Given the description of an element on the screen output the (x, y) to click on. 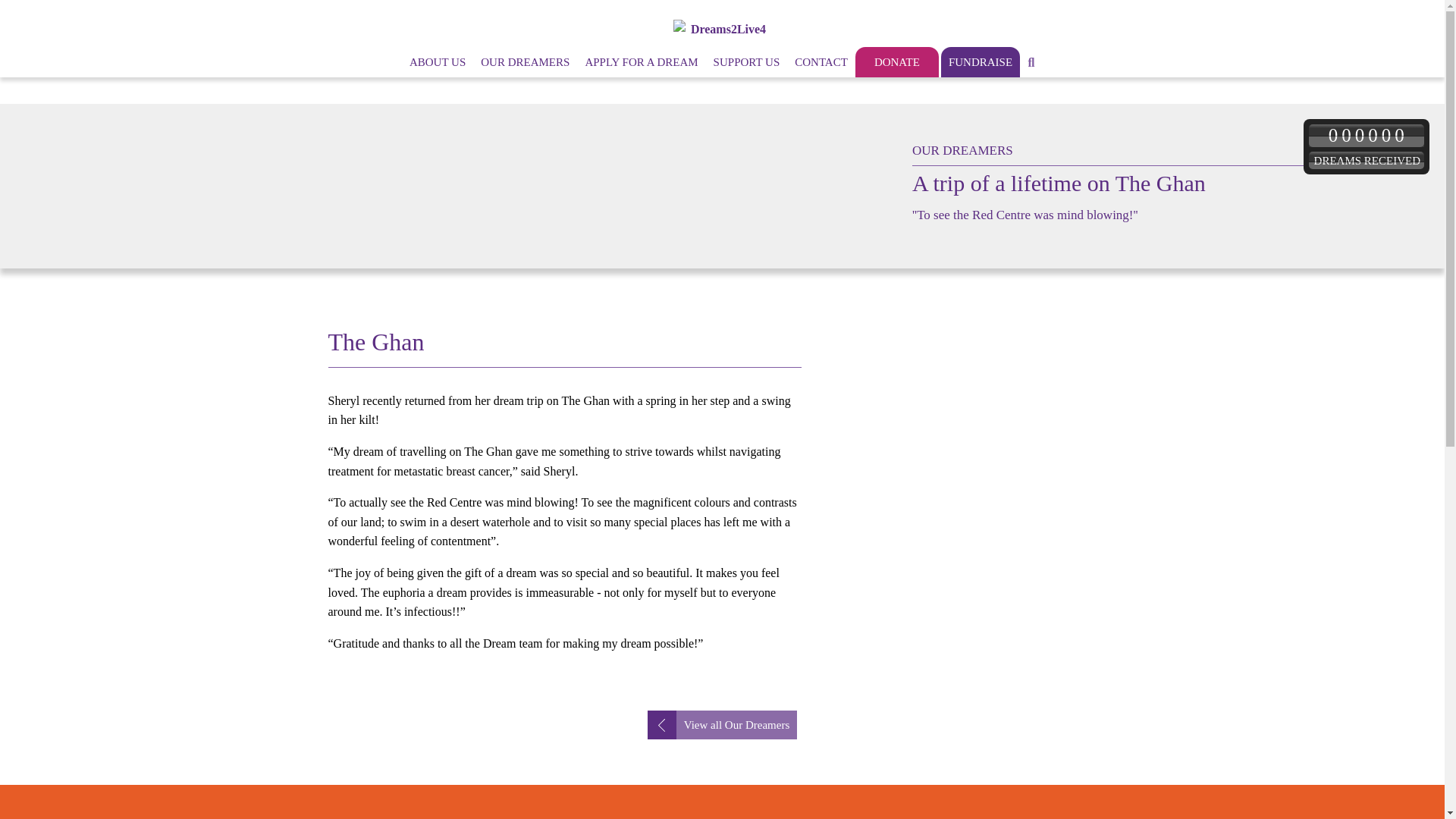
DONATE (897, 61)
CONTACT (821, 61)
ABOUT US (437, 61)
OUR DREAMERS (524, 61)
SUPPORT US (746, 61)
APPLY FOR A DREAM (640, 61)
